Given the description of an element on the screen output the (x, y) to click on. 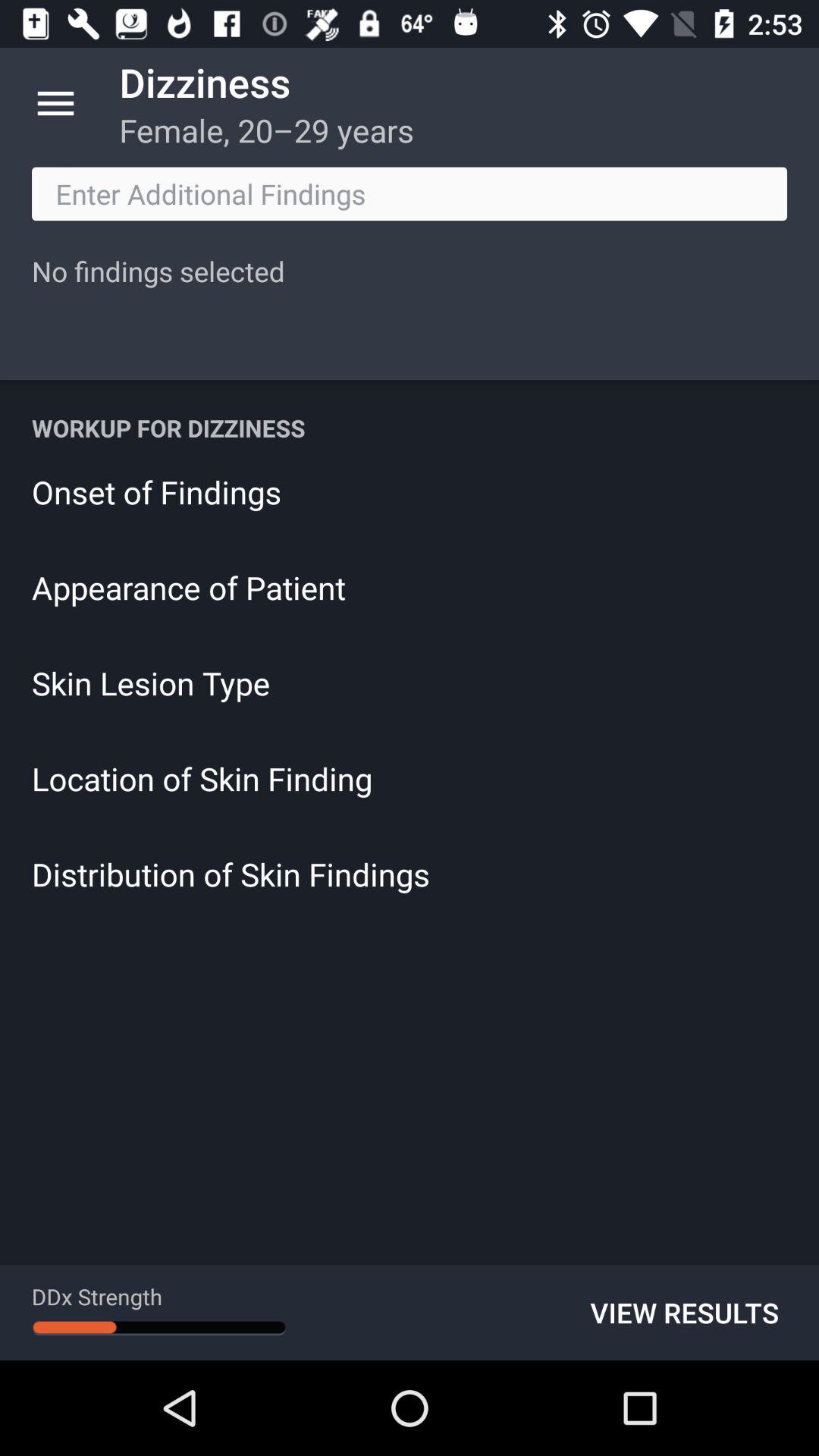
select icon above skin lesion type item (409, 587)
